Given the description of an element on the screen output the (x, y) to click on. 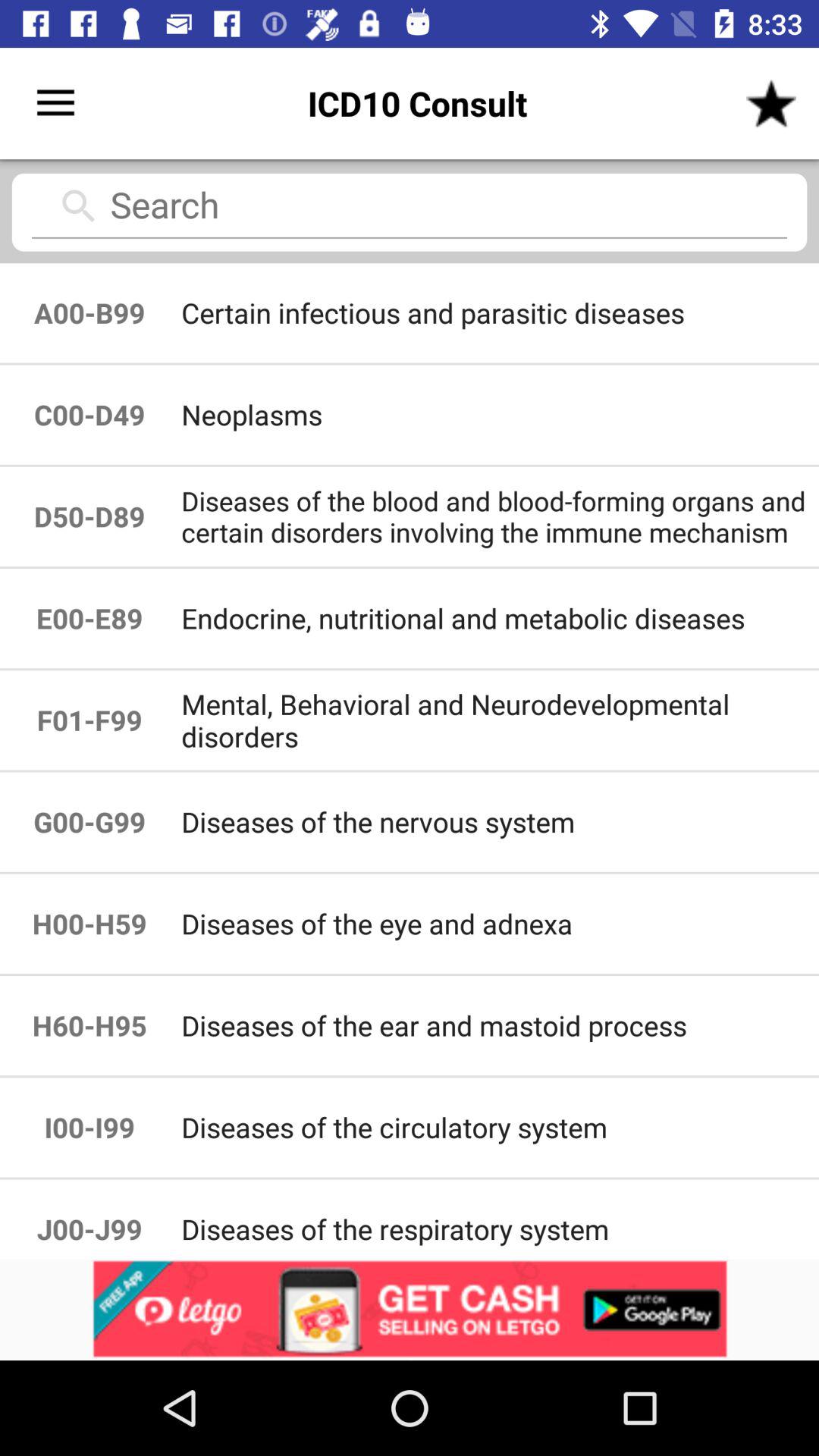
click item next to the diseases of the (89, 618)
